Given the description of an element on the screen output the (x, y) to click on. 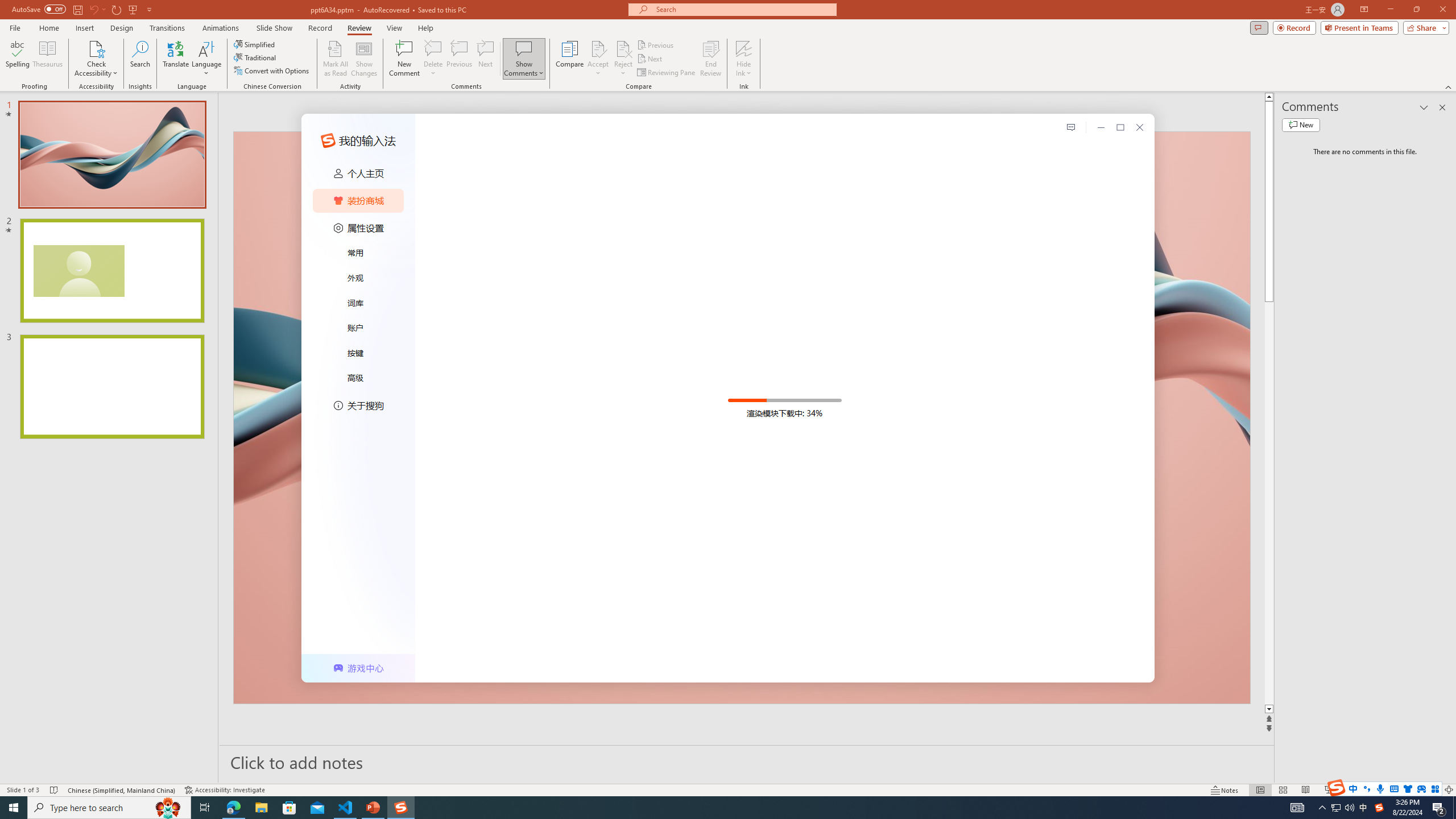
Accept Change (598, 48)
New Comment (403, 58)
